Given the description of an element on the screen output the (x, y) to click on. 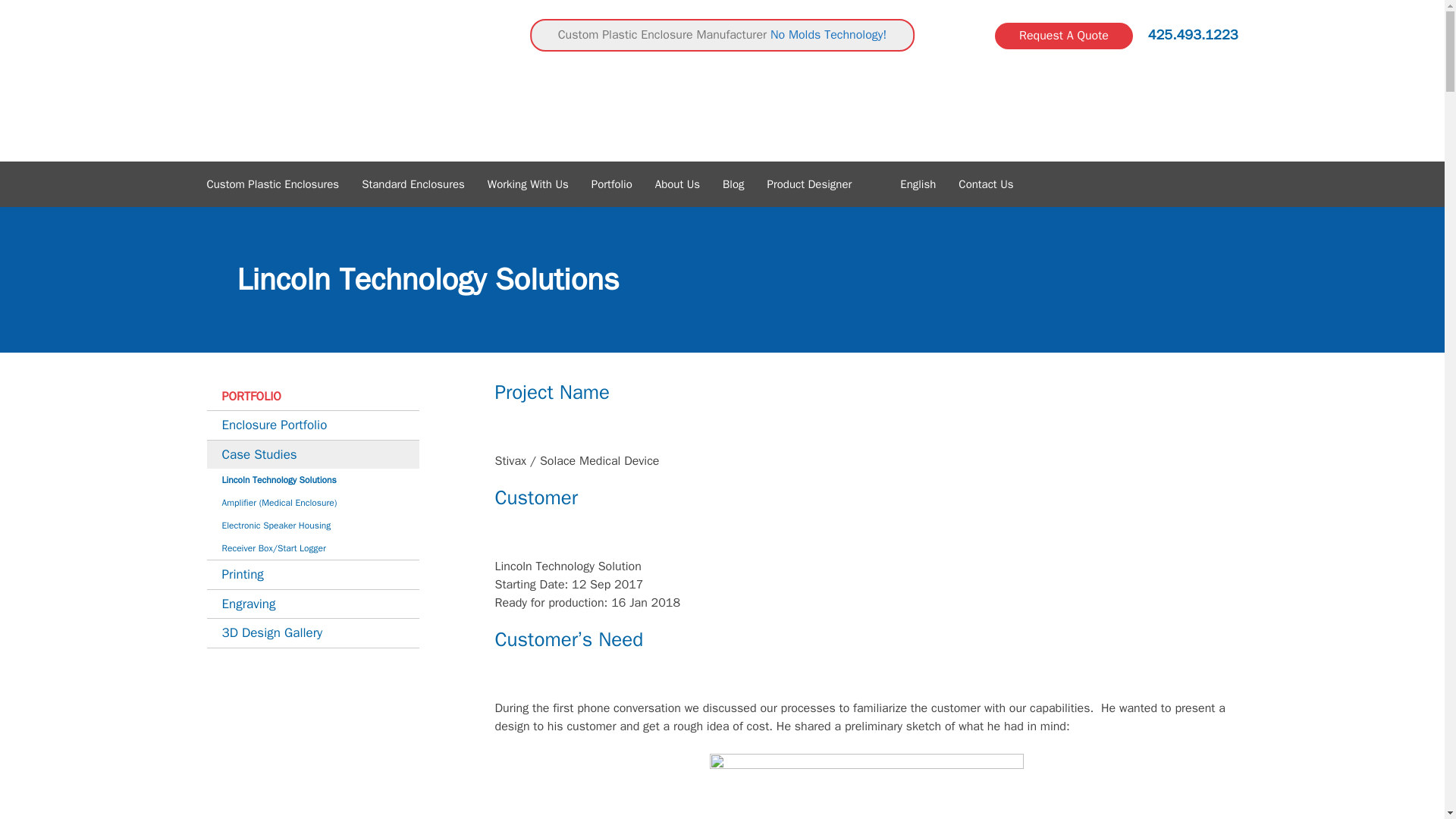
Toolless (304, 80)
English (916, 184)
Request A Quote (1063, 35)
No Molds Technology! (828, 34)
Toolless (304, 79)
425.493.1223 (1193, 34)
